Given the description of an element on the screen output the (x, y) to click on. 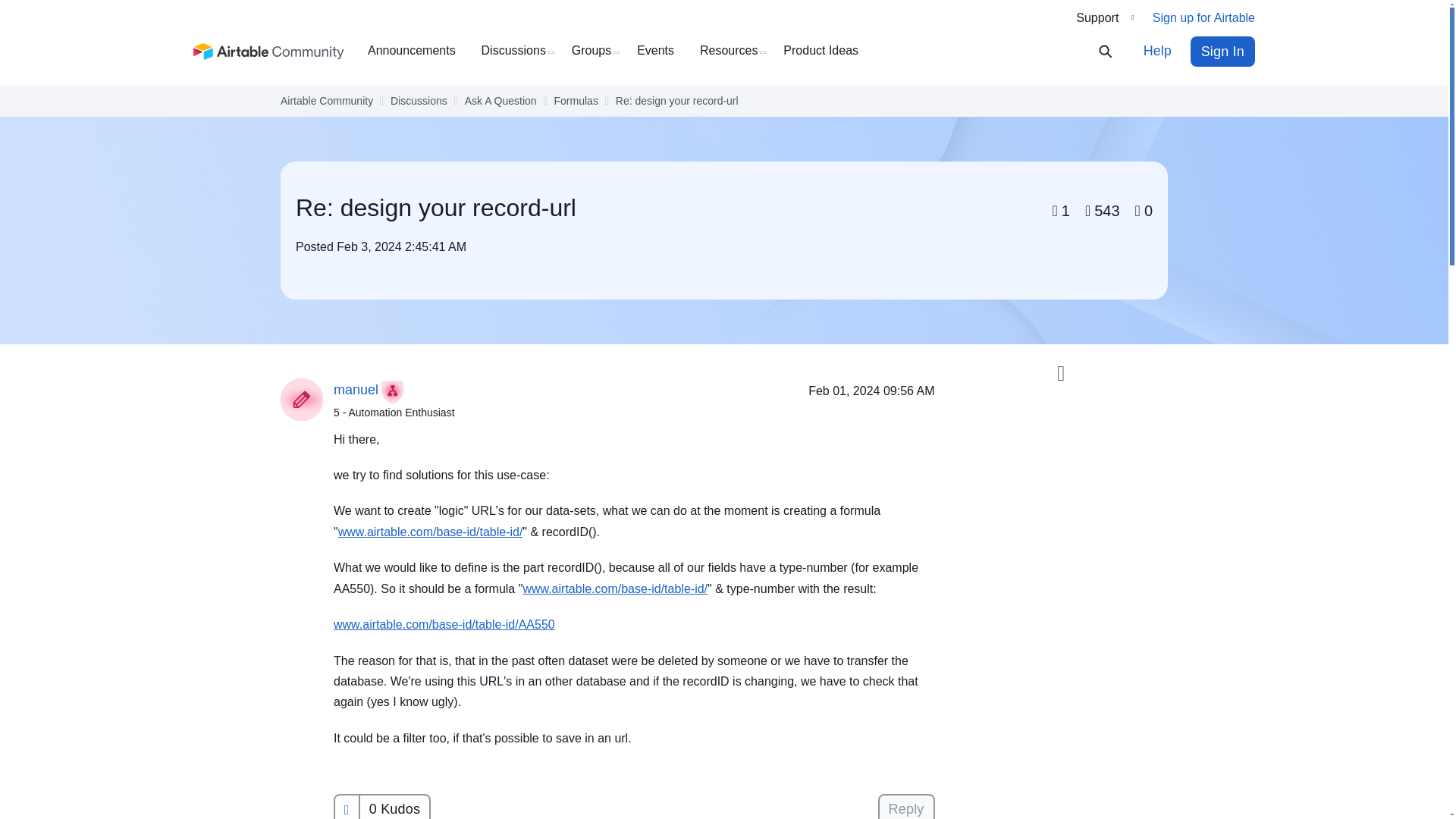
Support (1104, 17)
Airtable Community (326, 101)
Announcements (417, 50)
Product Ideas (826, 50)
Search (1114, 51)
Ask A Question (500, 101)
Discussions (519, 50)
Help (1157, 50)
Airtable Community (269, 51)
Events (661, 50)
